Given the description of an element on the screen output the (x, y) to click on. 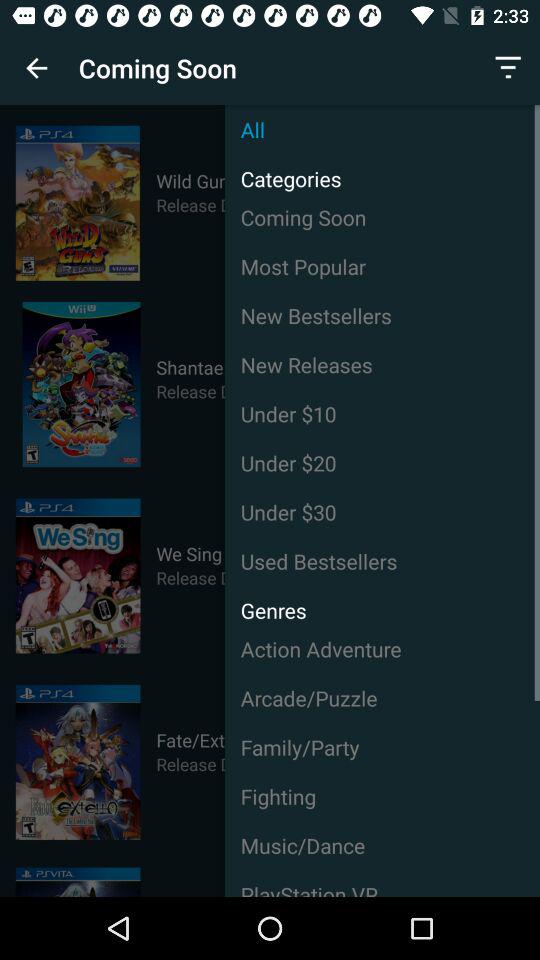
turn off icon below the all item (282, 173)
